Given the description of an element on the screen output the (x, y) to click on. 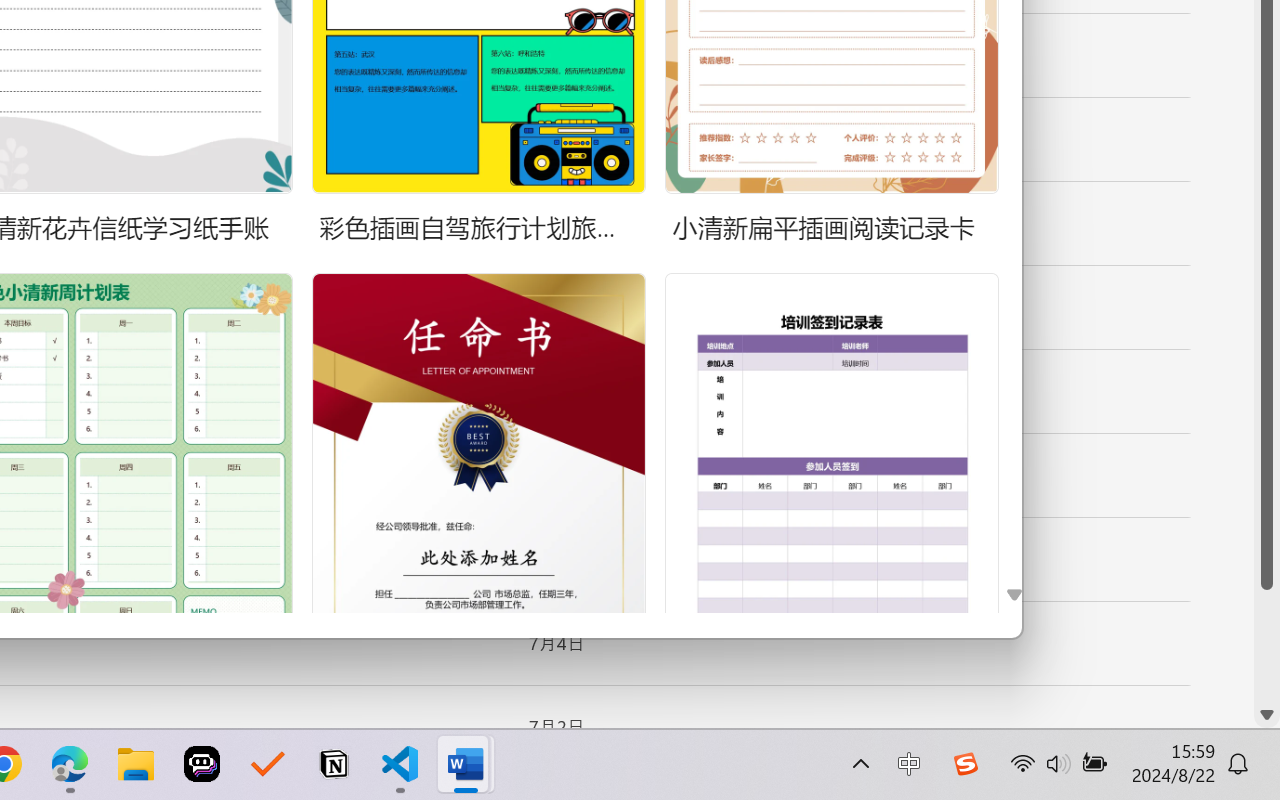
Class: Image (965, 764)
Poe (201, 764)
Line down (1267, 715)
